Given the description of an element on the screen output the (x, y) to click on. 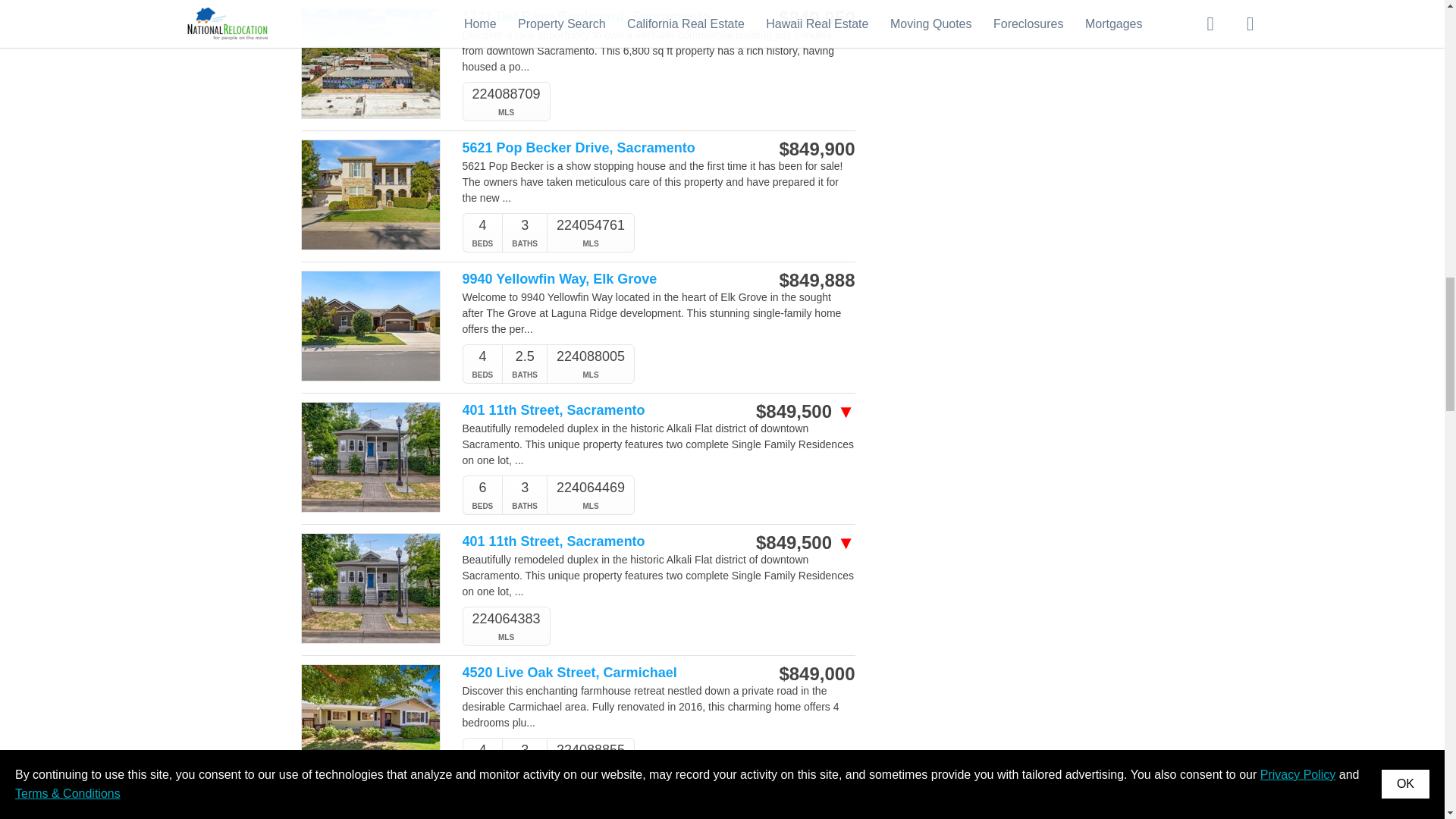
5621 Pop Becker Drive, Sacramento (600, 148)
9940 Yellowfin Way, Elk Grove (600, 279)
1721 Del Paso Boulevard, Sacramento (600, 17)
